Given the description of an element on the screen output the (x, y) to click on. 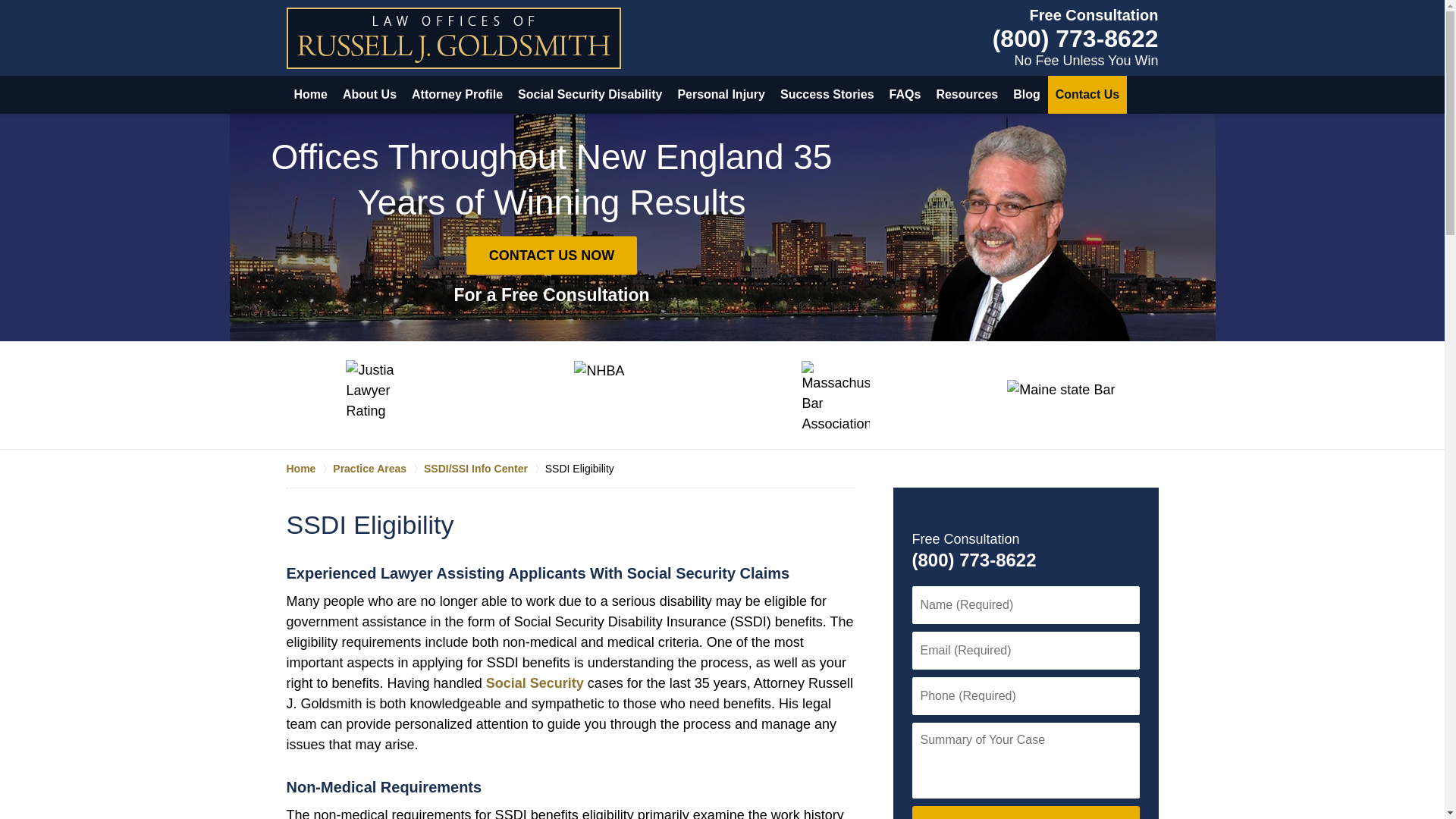
Resources (967, 94)
Law Offices of Russell J. Goldsmith Home (453, 37)
CONTACT US NOW (1024, 812)
Social Security (534, 683)
Home (310, 94)
Success Stories (827, 94)
Personal Injury (721, 94)
Social Security Disability (590, 94)
About Us (369, 94)
Back to Home (453, 37)
